Given the description of an element on the screen output the (x, y) to click on. 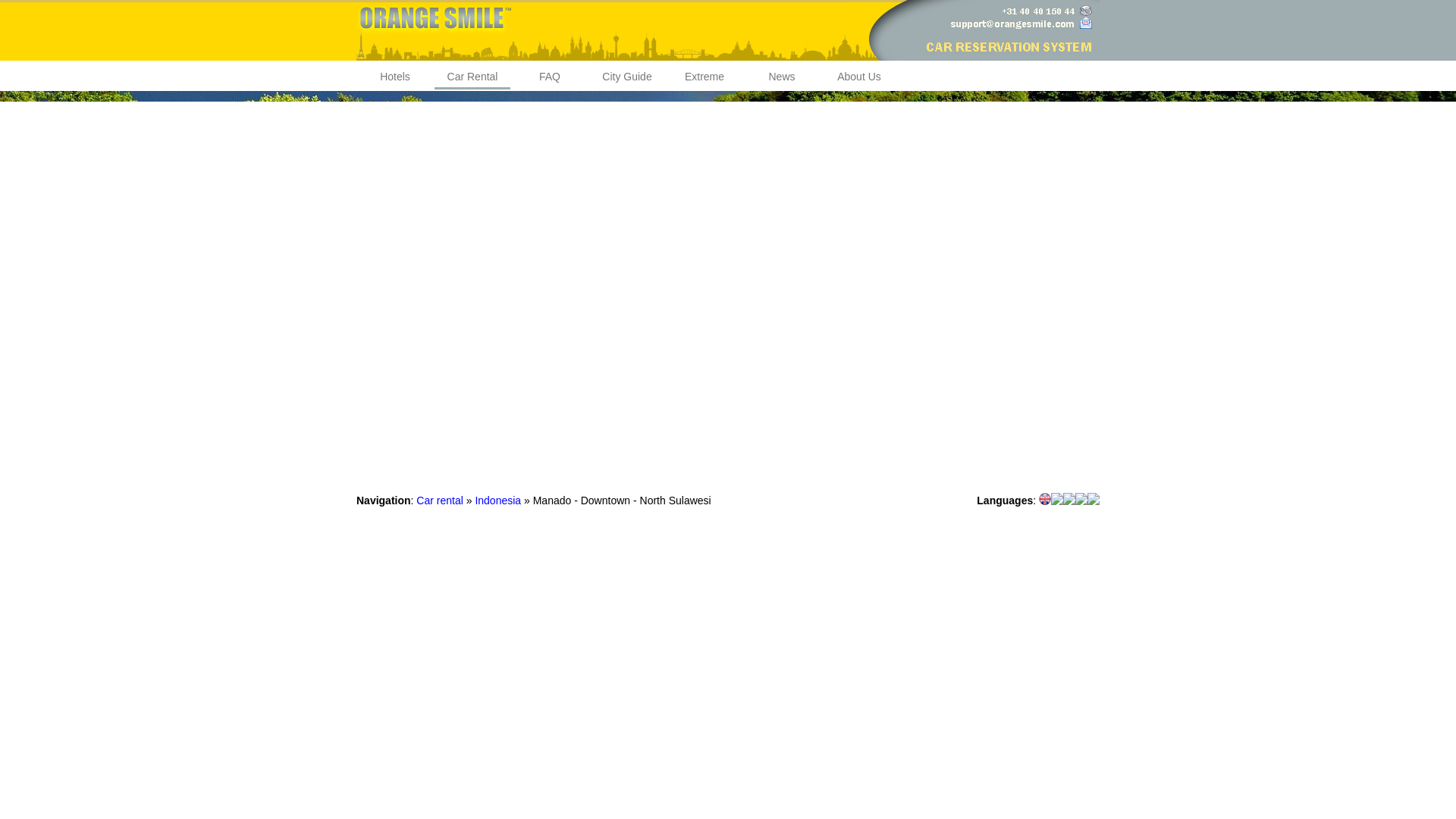
About Us (858, 75)
Car Rental (472, 76)
FAQ (550, 75)
Extreme (704, 75)
City Guide (627, 75)
News (781, 75)
Car rental (439, 500)
Indonesia (497, 500)
Hotels (394, 75)
